Given the description of an element on the screen output the (x, y) to click on. 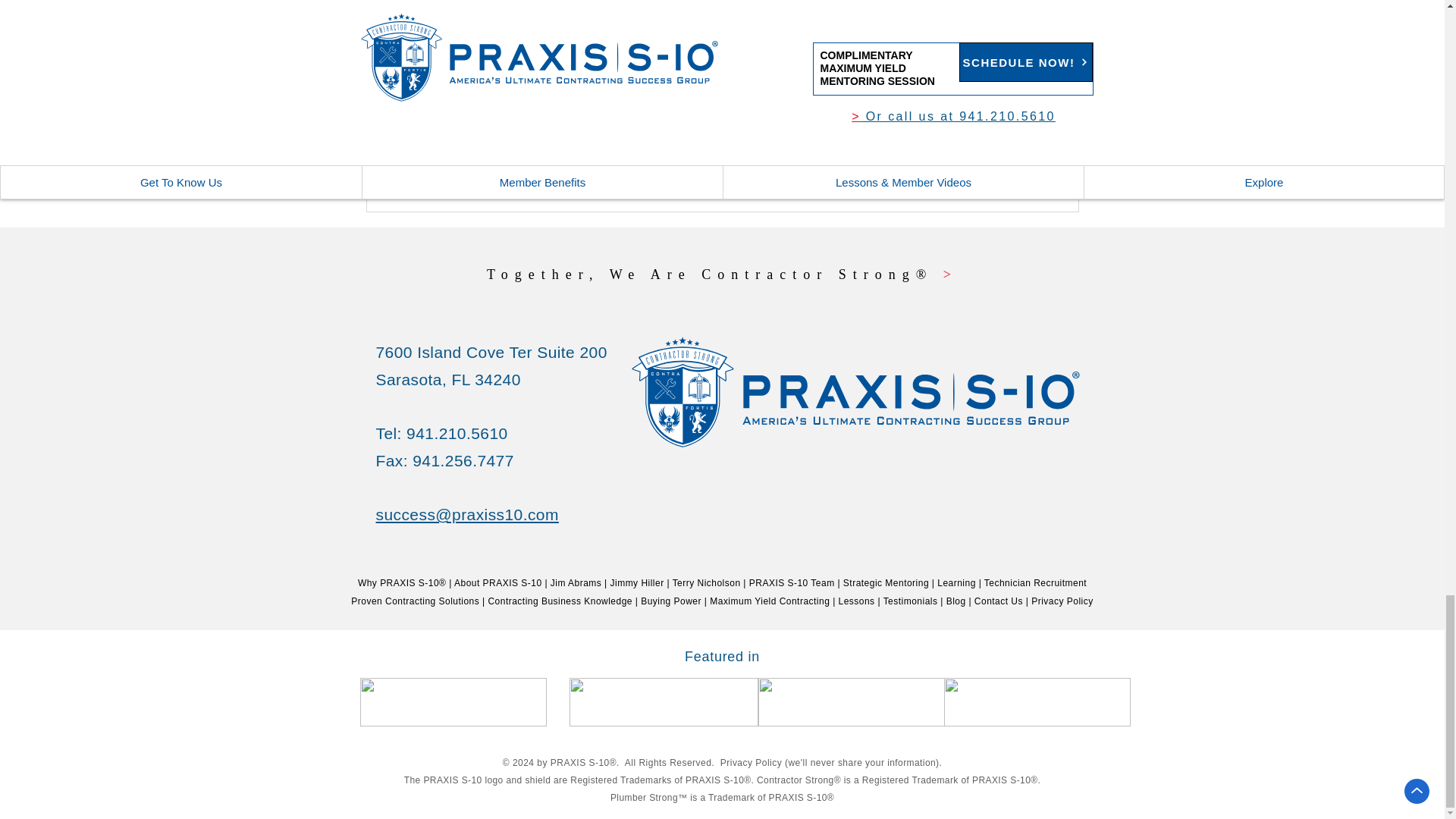
logos-hvacr.jpg (452, 702)
logos-the-news.jpg (663, 702)
logos-reeves.jpg (851, 702)
logos-pm.jpg (1036, 702)
